Given the description of an element on the screen output the (x, y) to click on. 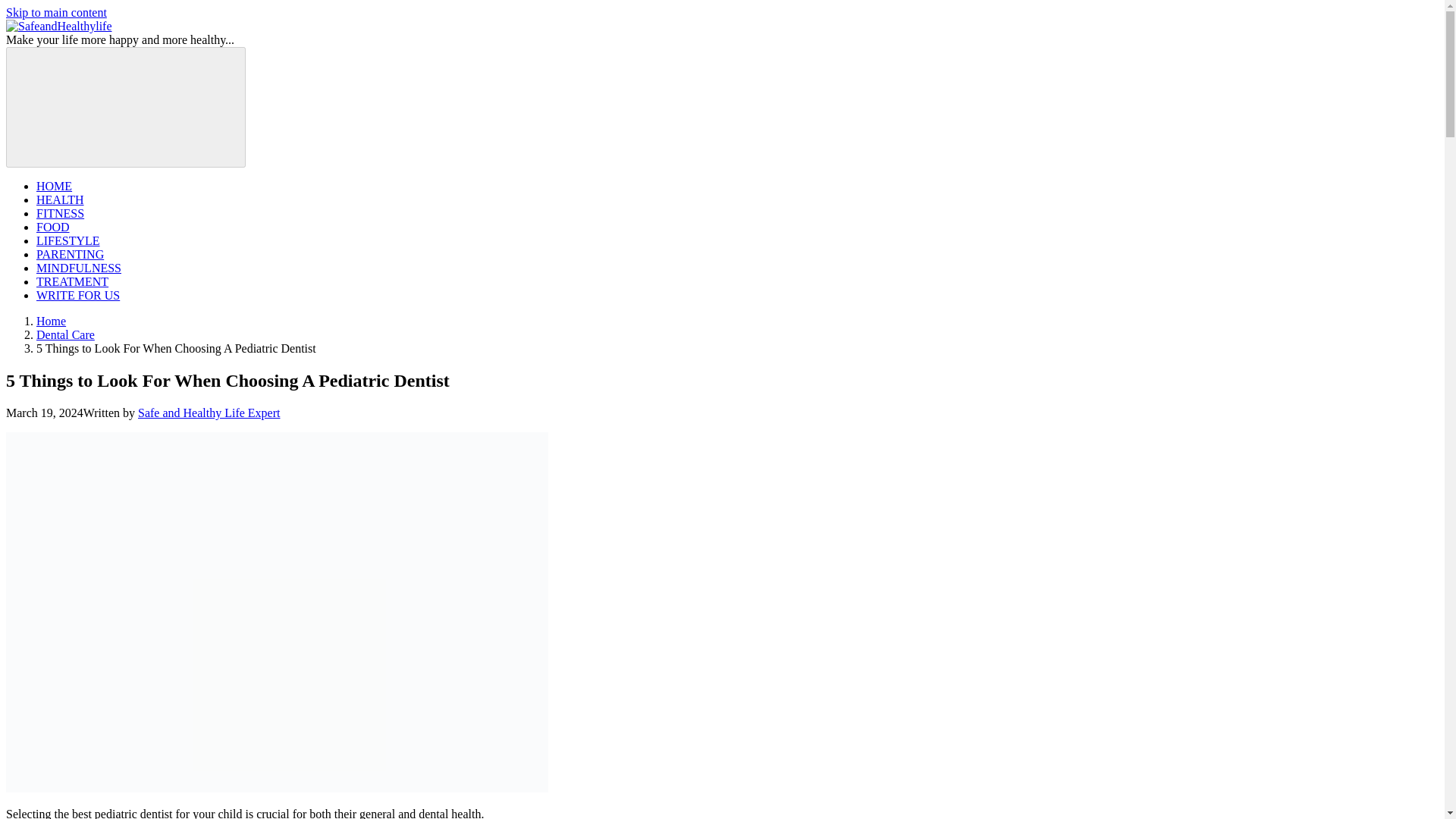
FOOD (52, 226)
LIFESTYLE (68, 240)
Skip to main content (55, 11)
Safe and Healthy Life Expert (208, 412)
FITNESS (60, 213)
WRITE FOR US (77, 295)
HOME (53, 185)
TREATMENT (71, 281)
PARENTING (69, 254)
MINDFULNESS (78, 267)
